Given the description of an element on the screen output the (x, y) to click on. 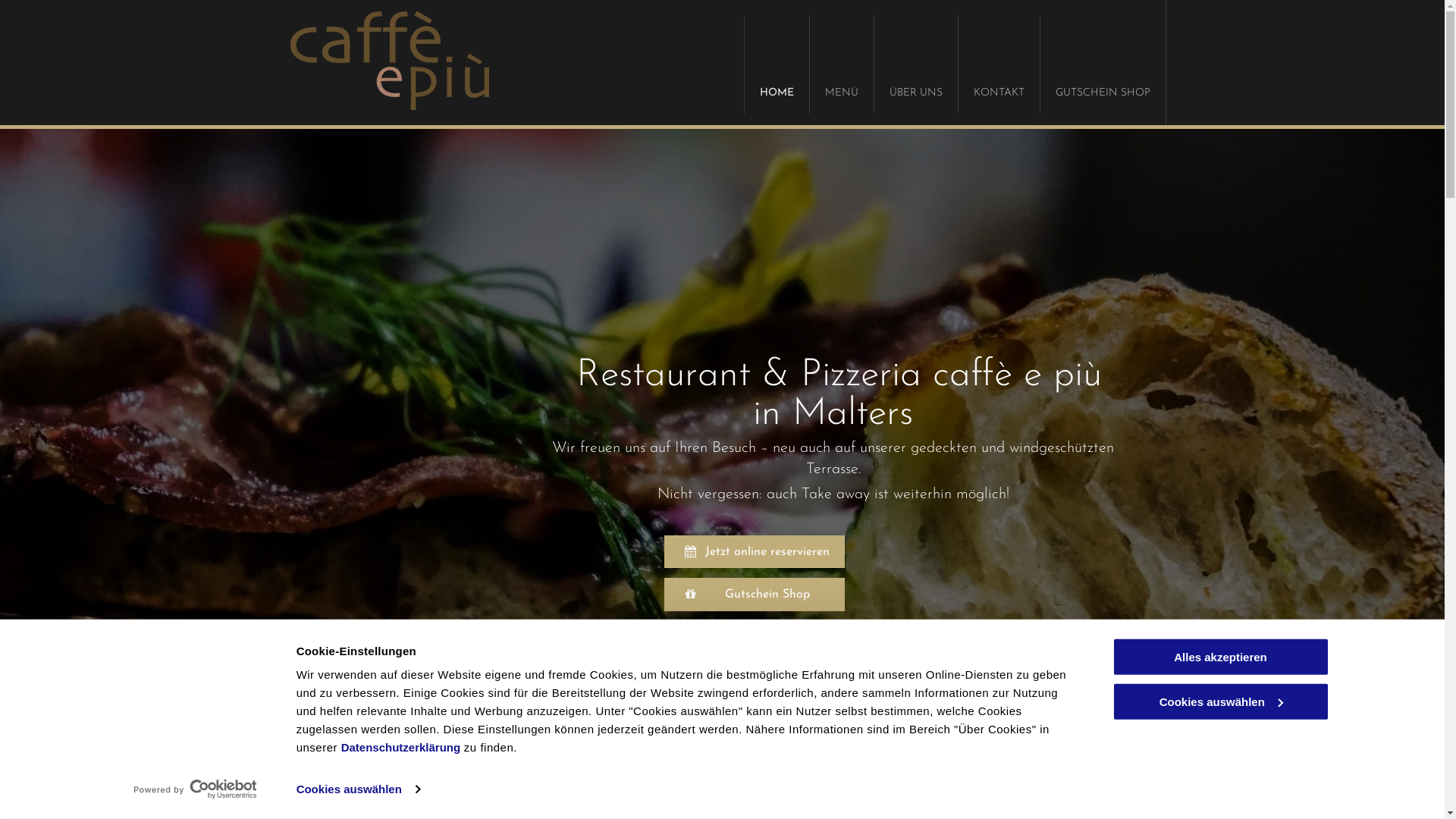
Jetzt online reservieren Element type: text (754, 551)
GUTSCHEIN SHOP Element type: text (1101, 64)
HOME Element type: text (775, 64)
Alles akzeptieren Element type: text (1219, 656)
KONTAKT Element type: text (997, 64)
Gutschein Shop Element type: text (754, 594)
